Given the description of an element on the screen output the (x, y) to click on. 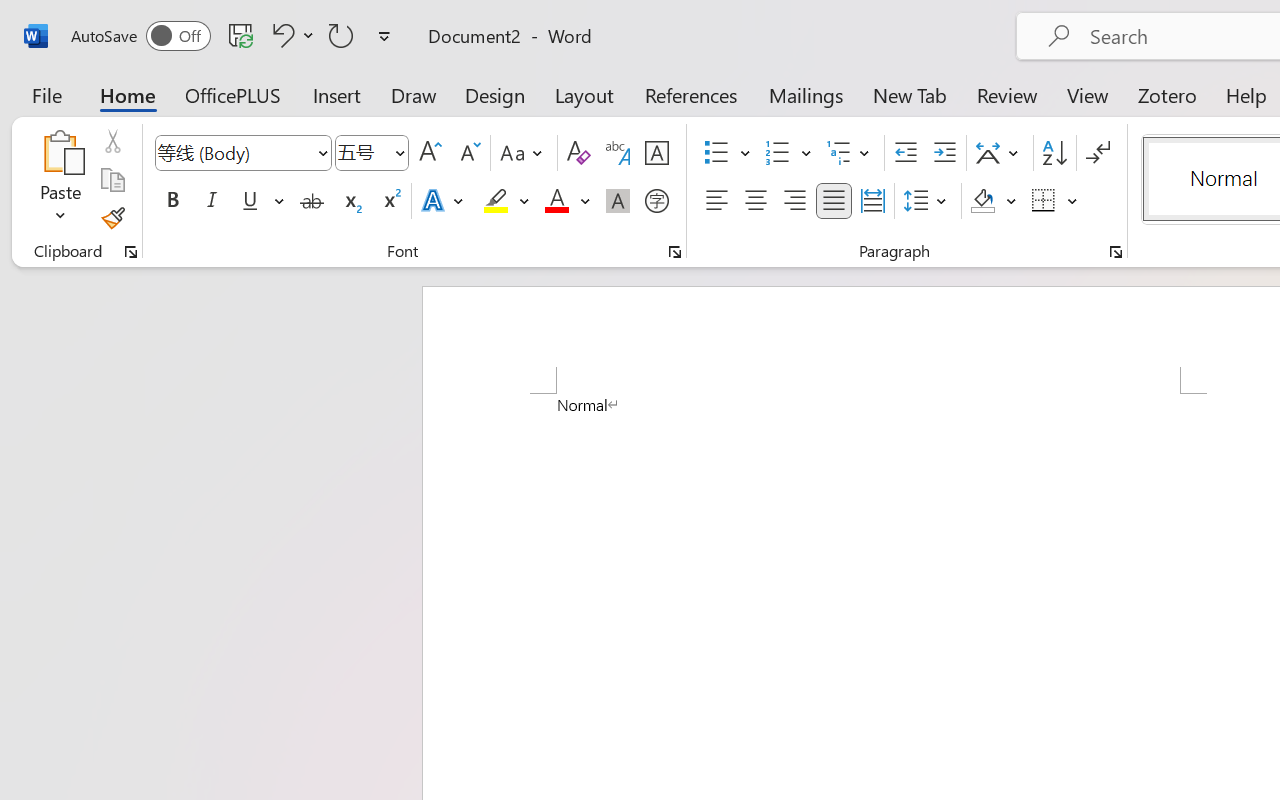
Undo Apply Quick Style (290, 35)
Review (1007, 94)
AutoSave (140, 35)
Bullets (727, 153)
Copy (112, 179)
Home (127, 94)
Numbering (778, 153)
Zotero (1166, 94)
Text Effects and Typography (444, 201)
Paragraph... (1115, 252)
Character Border (656, 153)
Justify (834, 201)
Repeat Doc Close (341, 35)
Layout (584, 94)
Paste (60, 179)
